Given the description of an element on the screen output the (x, y) to click on. 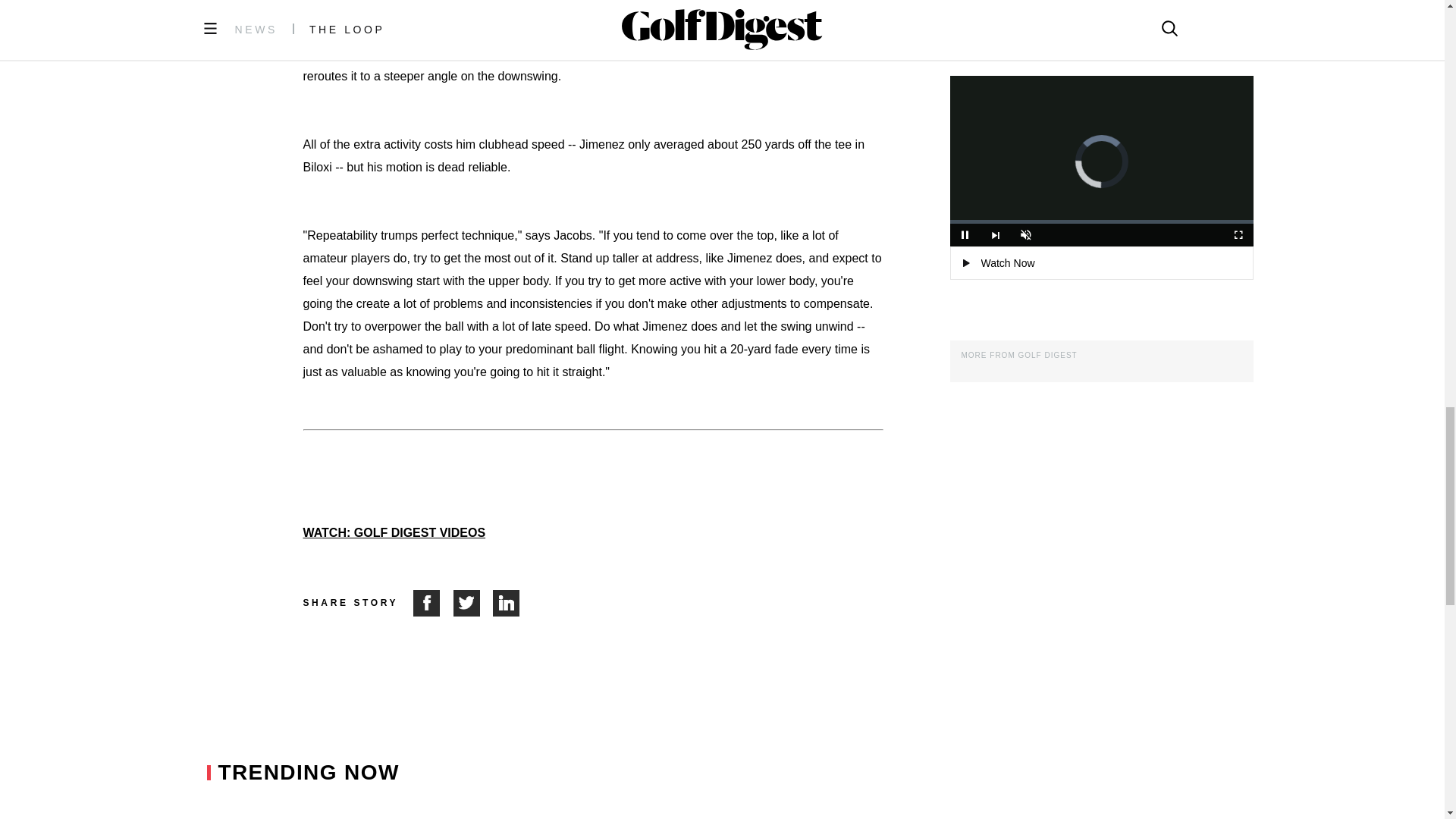
Share on Twitter (472, 602)
Share on LinkedIn (506, 602)
Share on Facebook (432, 602)
